Given the description of an element on the screen output the (x, y) to click on. 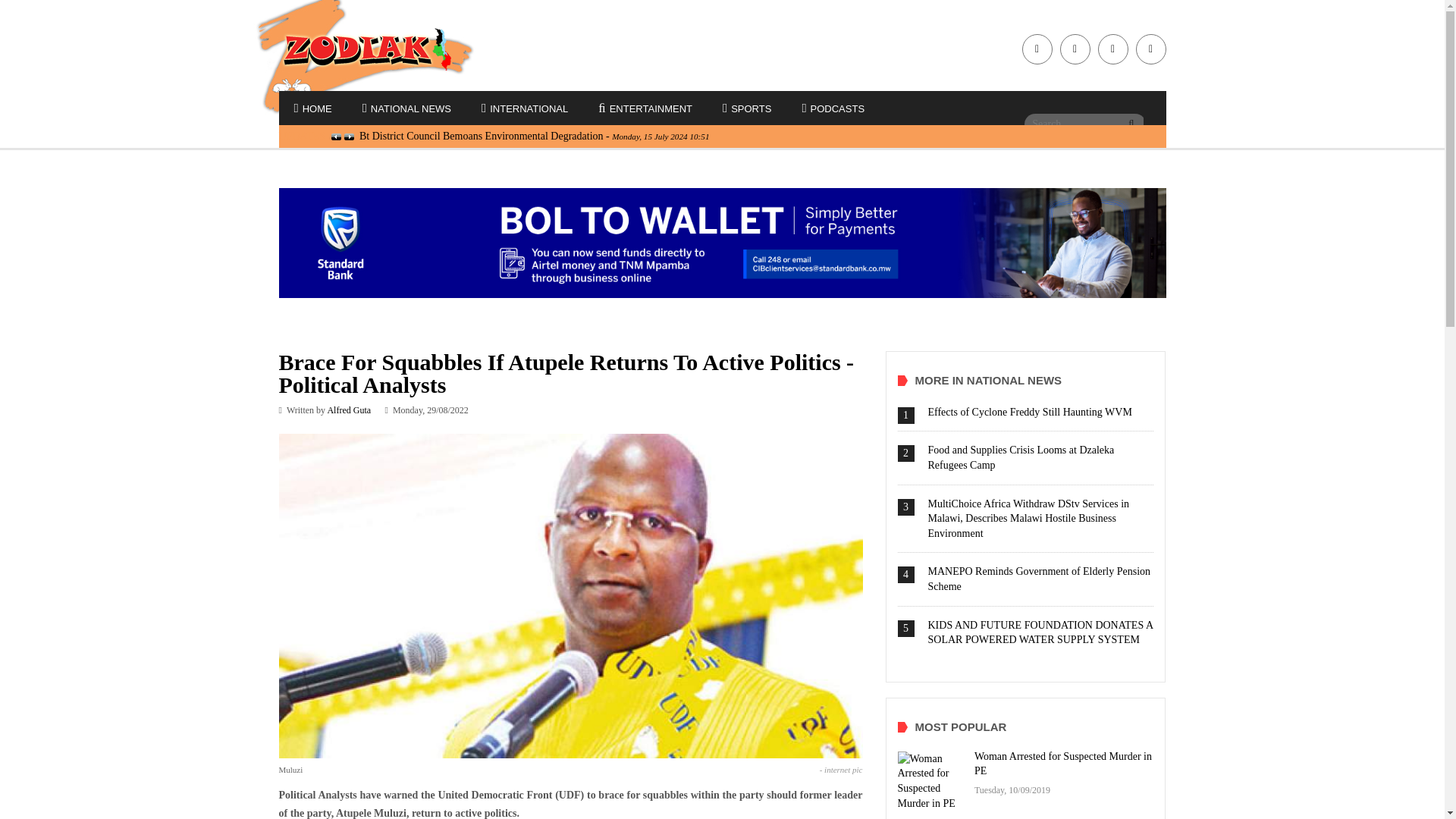
HOME (313, 108)
SPORTS (746, 108)
Standard Bank - BOL to Wallet (722, 243)
Alfred Guta (348, 409)
ZODIAK MALAWI ONLINE (381, 49)
Go (1130, 123)
NATIONAL NEWS (406, 108)
PODCASTS (832, 108)
ENTERTAINMENT (645, 108)
Continue reading "Woman Arrested for Suspected Murder in PE" (932, 780)
INTERNATIONAL (524, 108)
